Given the description of an element on the screen output the (x, y) to click on. 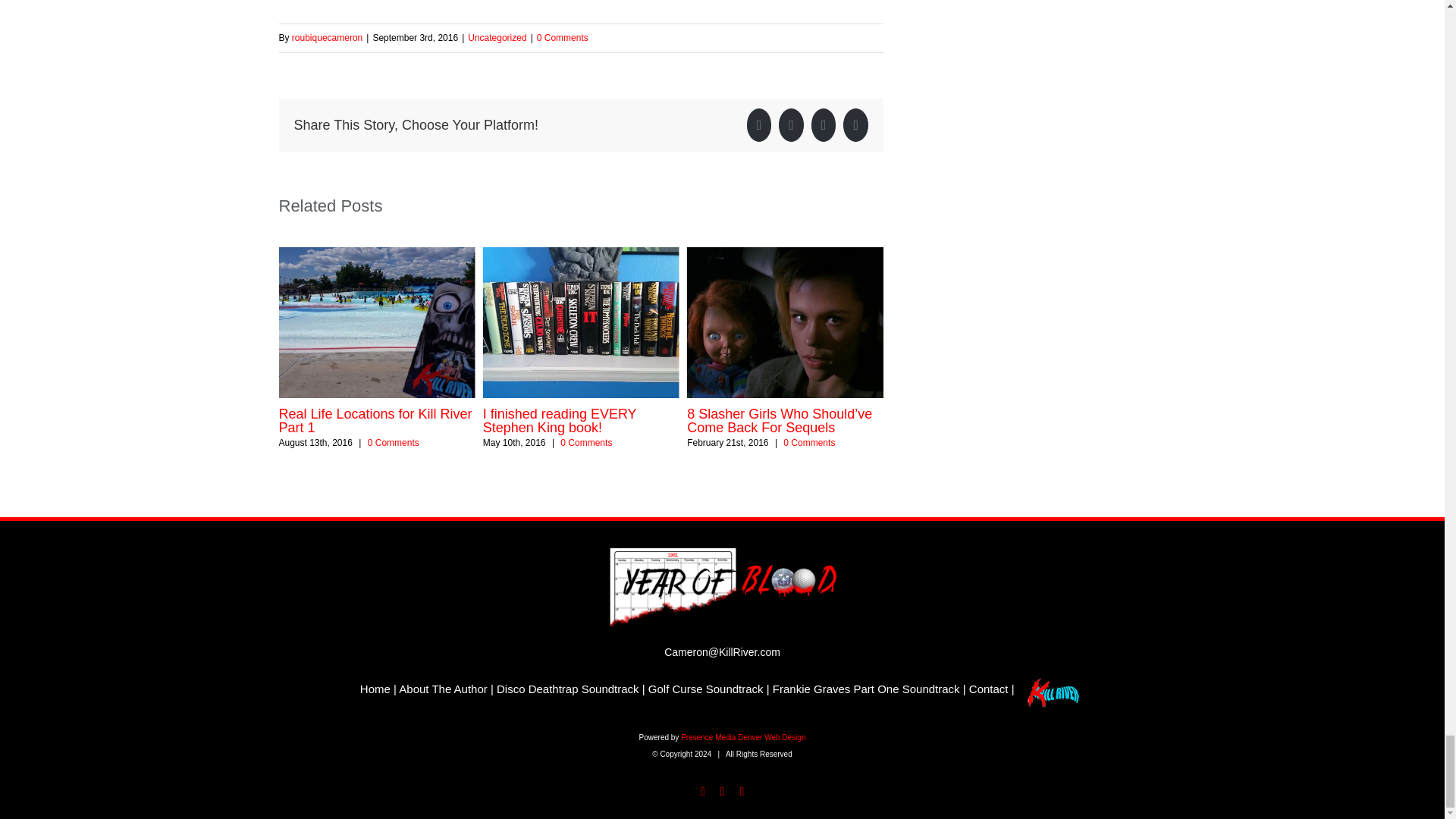
Uncategorized (496, 37)
0 Comments (562, 37)
roubiquecameron (327, 37)
I finished reading EVERY Stephen King book! (559, 420)
Posts by roubiquecameron (327, 37)
Real Life Locations for Kill River Part 1 (374, 420)
